Given the description of an element on the screen output the (x, y) to click on. 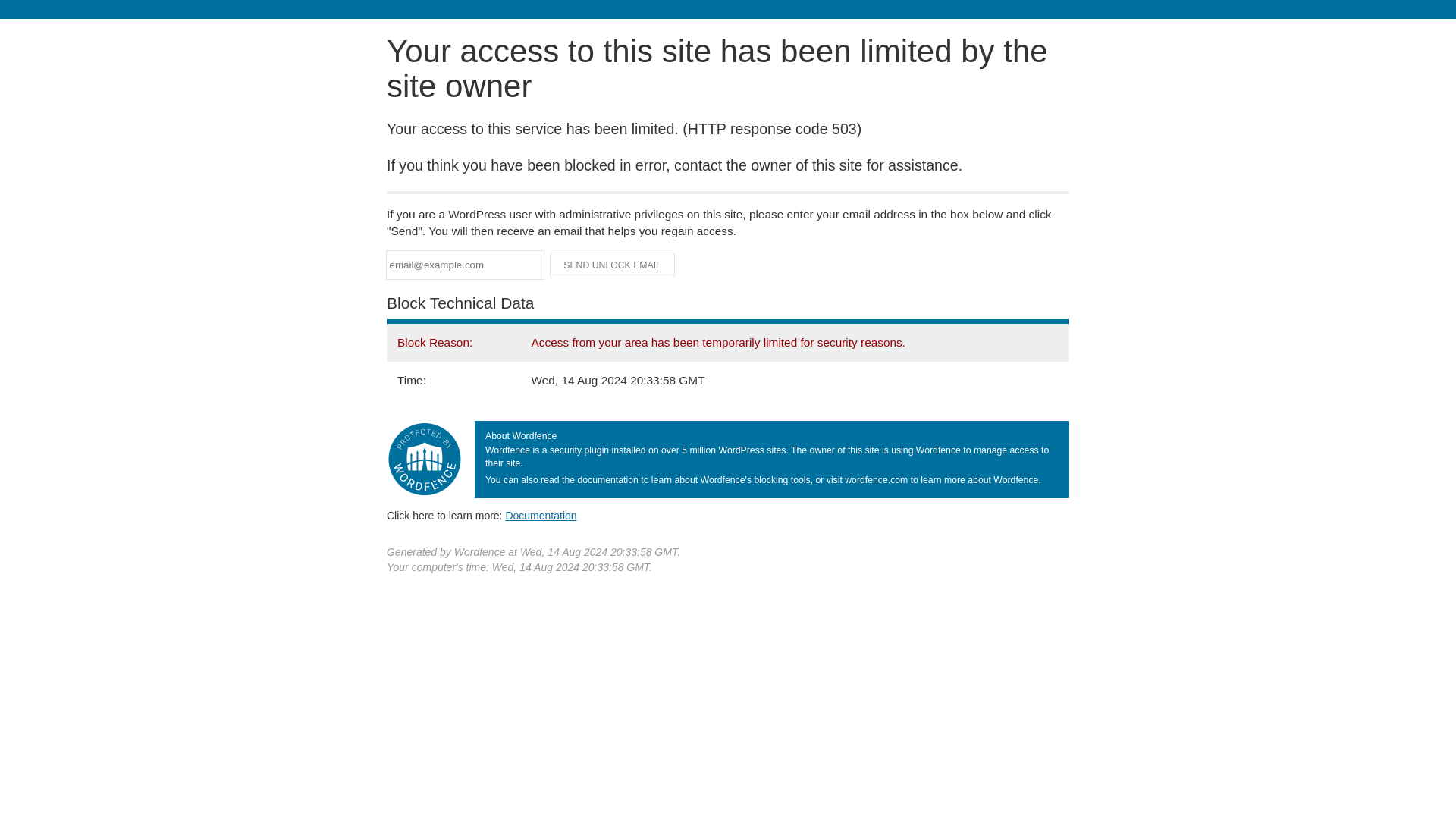
Send Unlock Email (612, 265)
Documentation (540, 515)
Send Unlock Email (612, 265)
